Given the description of an element on the screen output the (x, y) to click on. 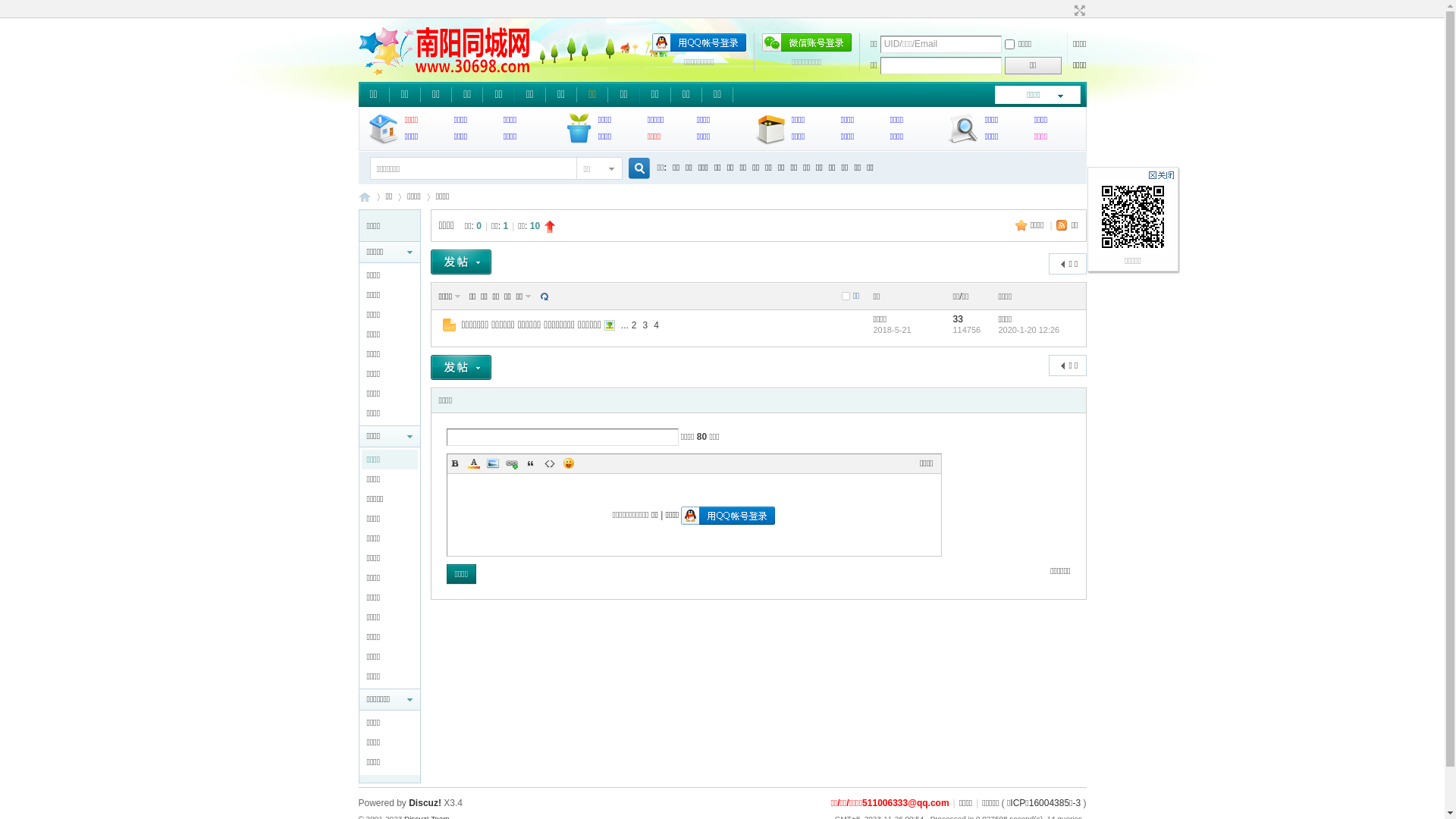
33 Element type: text (957, 318)
Smilies Element type: text (568, 462)
Image Element type: text (492, 462)
3 Element type: text (645, 325)
Link Element type: text (510, 462)
4 Element type: text (656, 325)
Discuz! Element type: text (424, 802)
B Element type: text (454, 462)
Code Element type: text (548, 462)
2020-1-20 12:26 Element type: text (1028, 329)
Color Element type: text (472, 462)
Quote Element type: text (530, 462)
2 Element type: text (634, 325)
true Element type: text (632, 168)
